Given the description of an element on the screen output the (x, y) to click on. 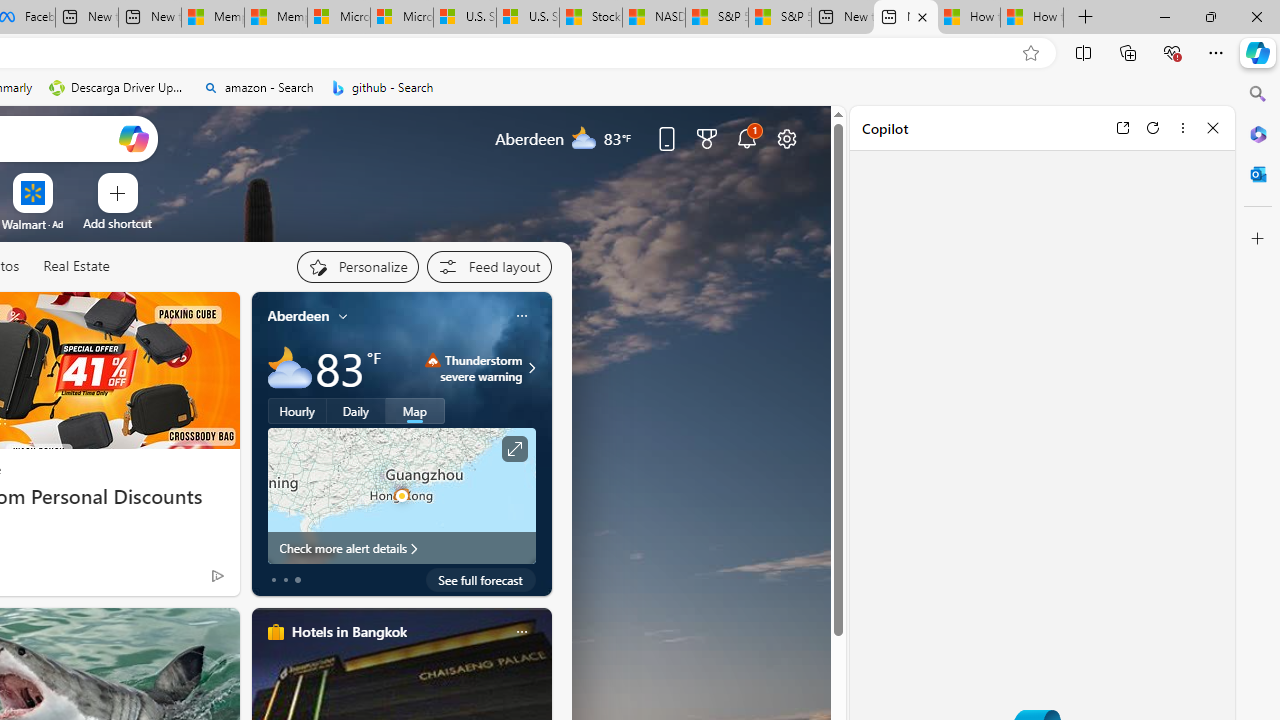
Microsoft 365 (1258, 133)
Class: weather-arrow-glyph (531, 367)
hotels-header-icon (275, 632)
Outlook (1258, 174)
Daily (356, 411)
Real Estate (76, 265)
More options (1182, 127)
Descarga Driver Updater (118, 88)
Microsoft rewards (707, 138)
Mostly cloudy (289, 368)
